Given the description of an element on the screen output the (x, y) to click on. 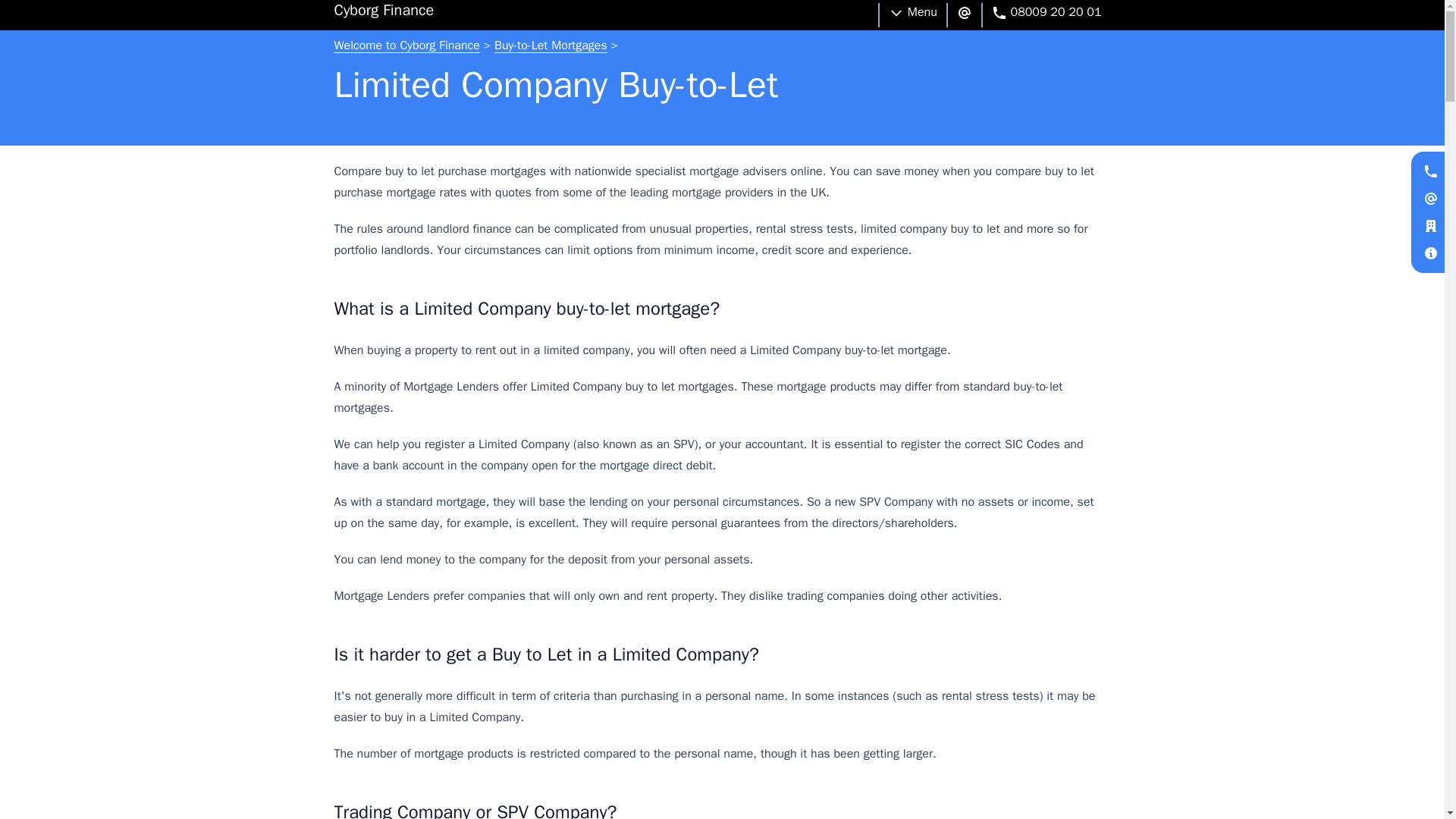
Buy-to-Let Mortgages (551, 45)
Welcome to Cyborg Finance (406, 45)
08009 20 20 01 (1045, 15)
Cyborg Finance (383, 13)
